Given the description of an element on the screen output the (x, y) to click on. 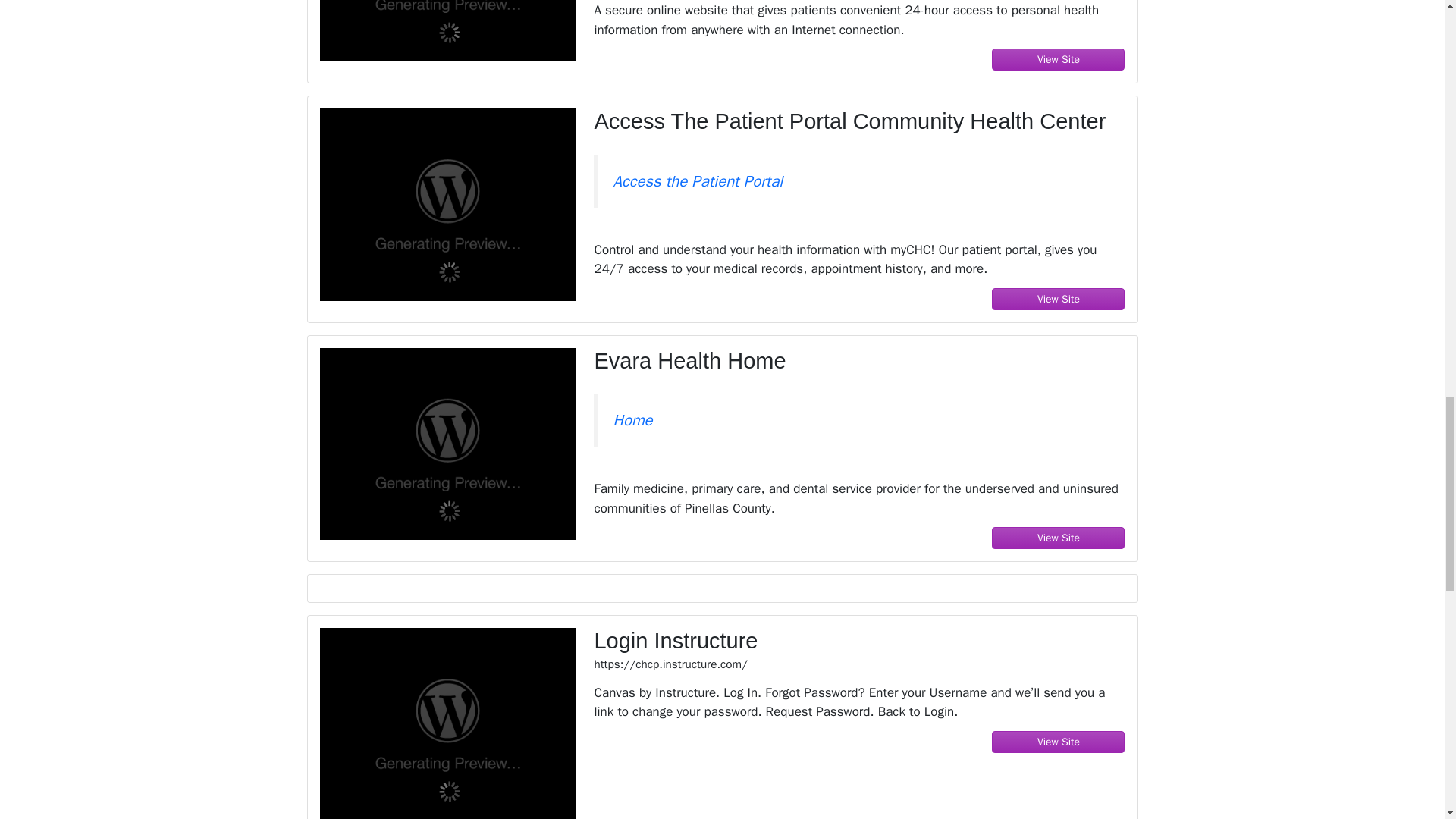
View Site (1058, 298)
Evara Health Home (859, 361)
View Site (1058, 59)
Home (632, 419)
View Site (1058, 537)
Access the Patient Portal (697, 180)
View Site (1058, 741)
Access The Patient Portal Community Health Center (859, 121)
